Given the description of an element on the screen output the (x, y) to click on. 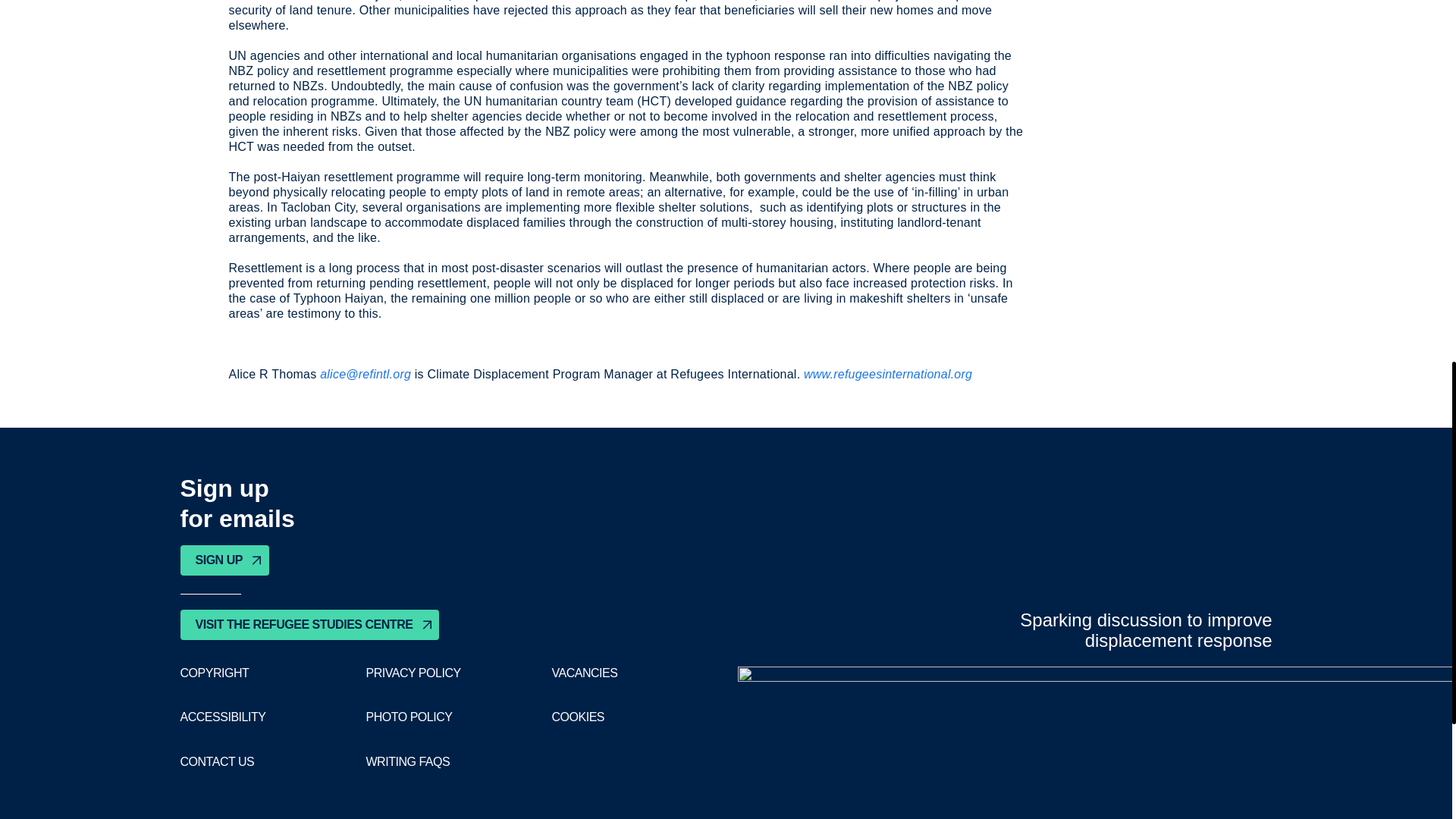
ACCESSIBILITY (223, 716)
COPYRIGHT (214, 673)
PHOTO POLICY (408, 716)
VISIT THE REFUGEE STUDIES CENTRE (309, 624)
WRITING FAQS (407, 762)
www.refugeesinternational.org (887, 373)
VACANCIES (584, 673)
SIGN UP (224, 560)
COOKIES (578, 716)
PRIVACY POLICY (412, 673)
